Given the description of an element on the screen output the (x, y) to click on. 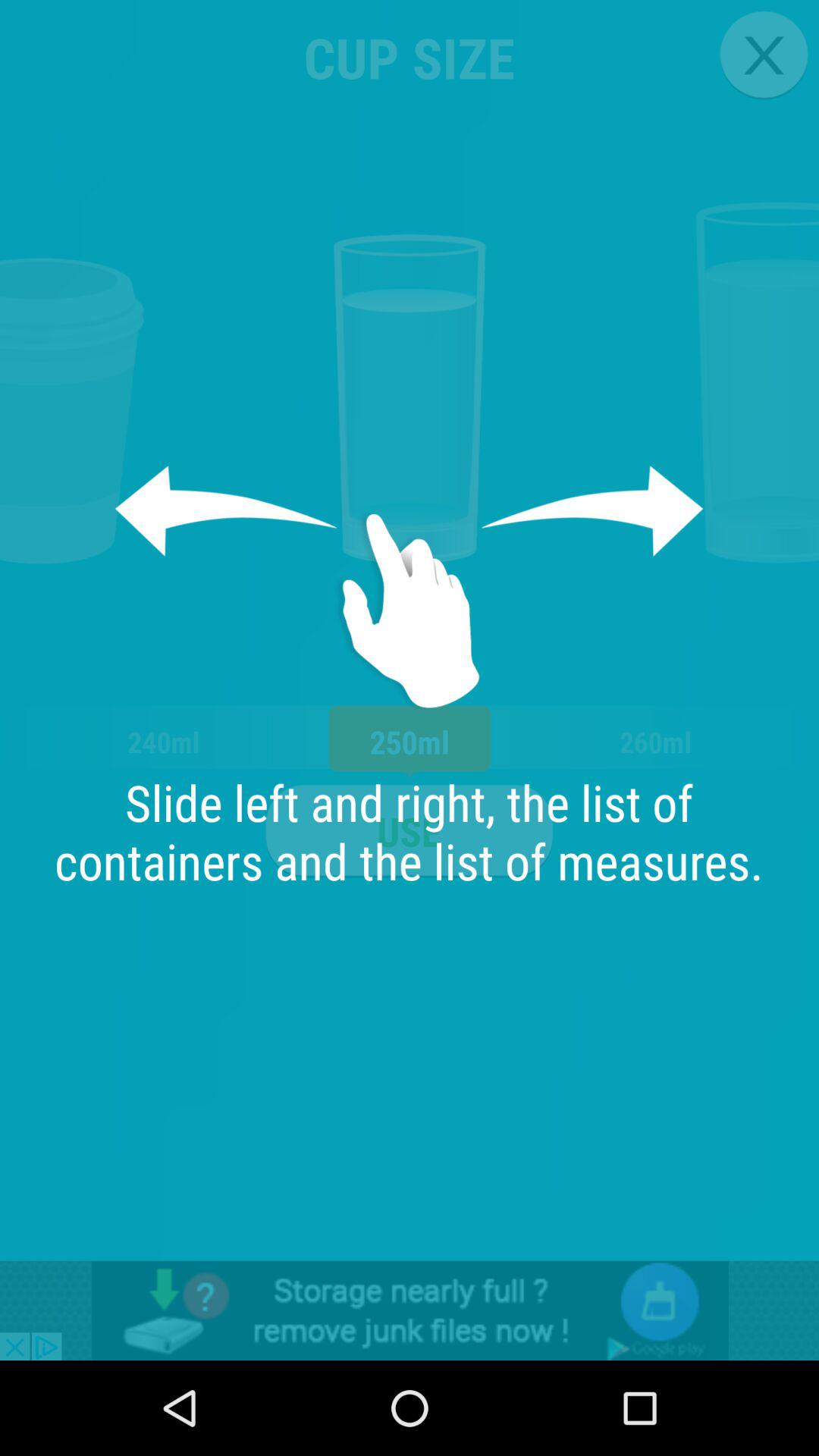
toggle advertisement (409, 1310)
